Given the description of an element on the screen output the (x, y) to click on. 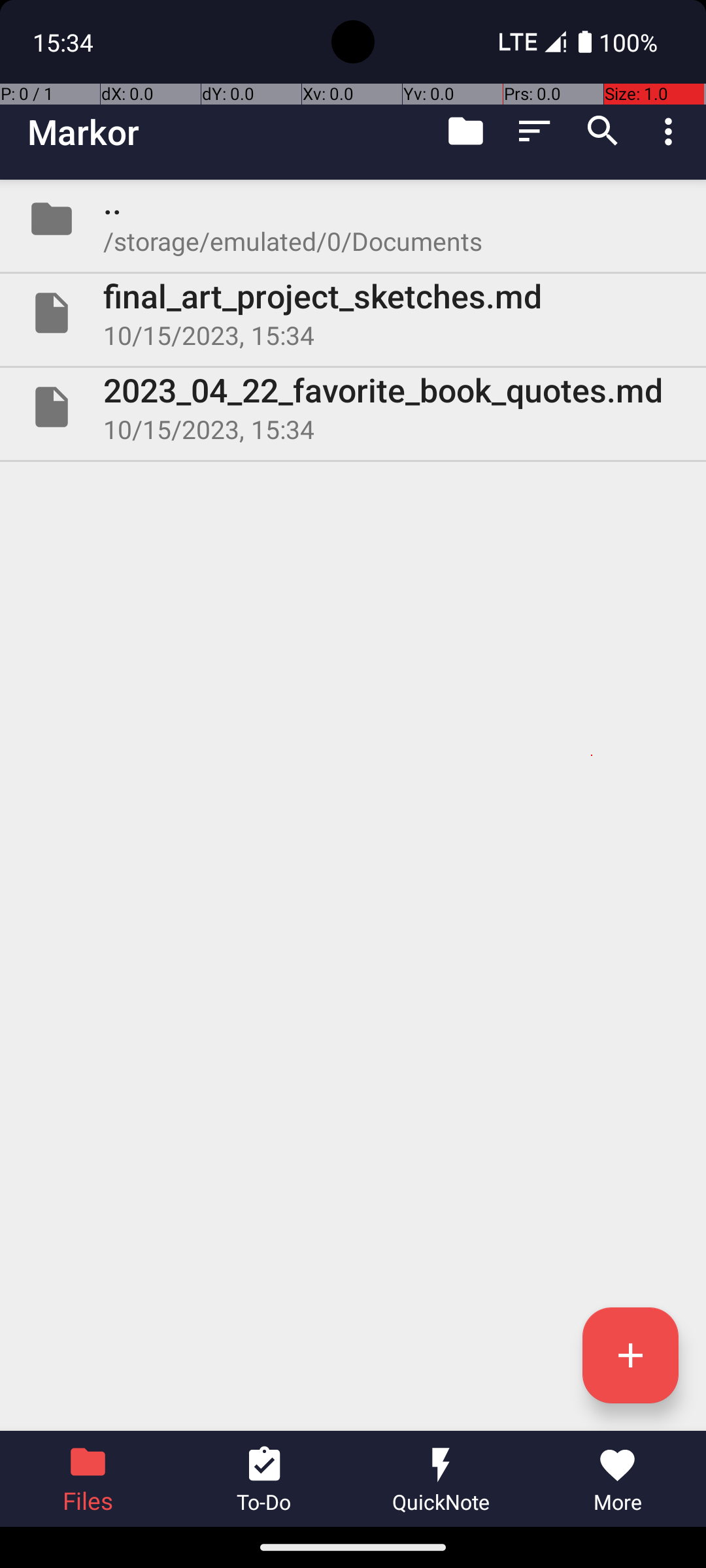
File final_art_project_sketches.md  Element type: android.widget.LinearLayout (353, 312)
File 2023_04_22_favorite_book_quotes.md  Element type: android.widget.LinearLayout (353, 406)
